Given the description of an element on the screen output the (x, y) to click on. 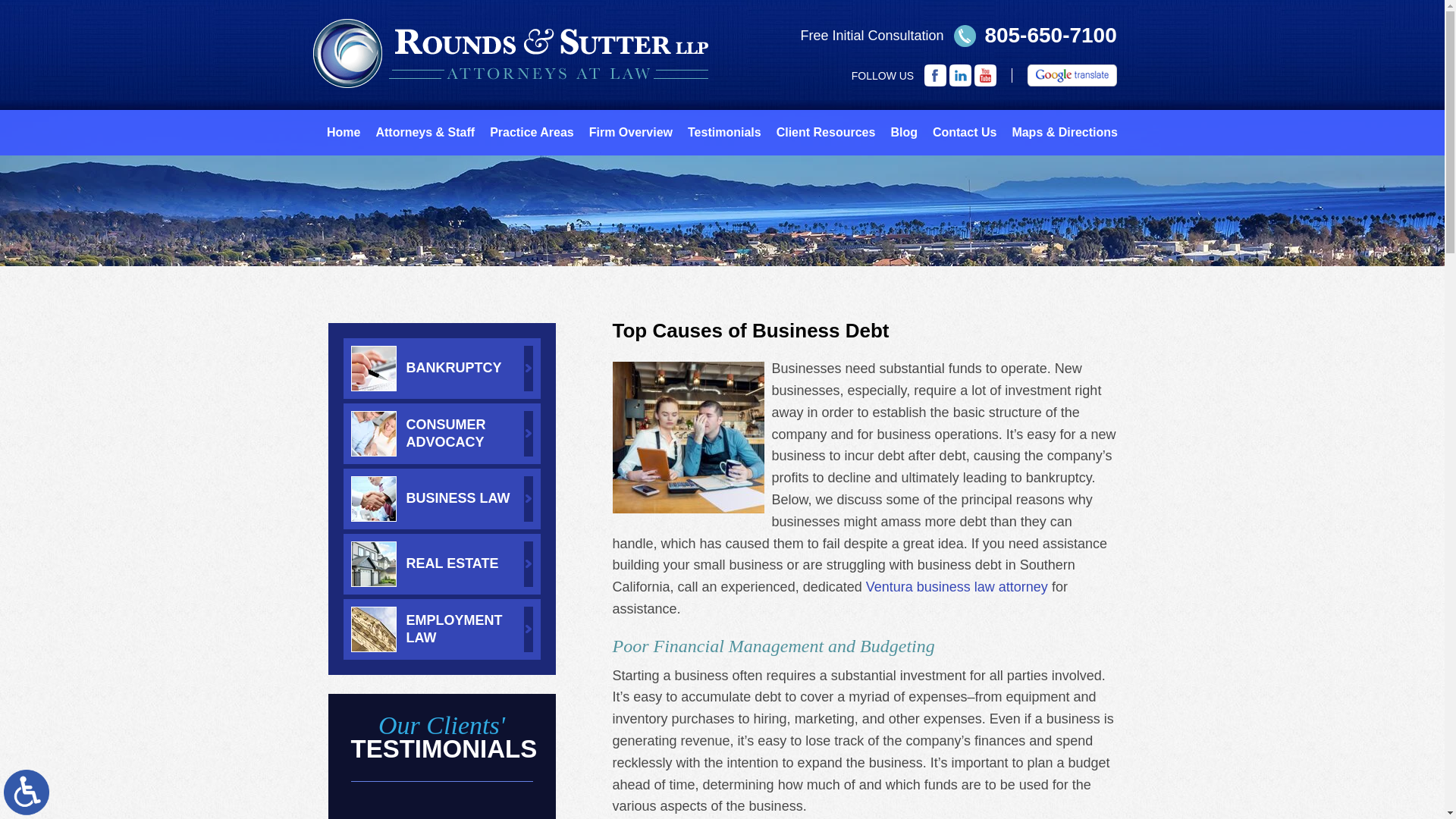
Switch to ADA Accessible Theme (26, 791)
Home (343, 132)
Practice Areas (530, 132)
LinkedIn (960, 75)
805-650-7100 (1034, 35)
Facebook (935, 75)
YouTube (984, 75)
